Given the description of an element on the screen output the (x, y) to click on. 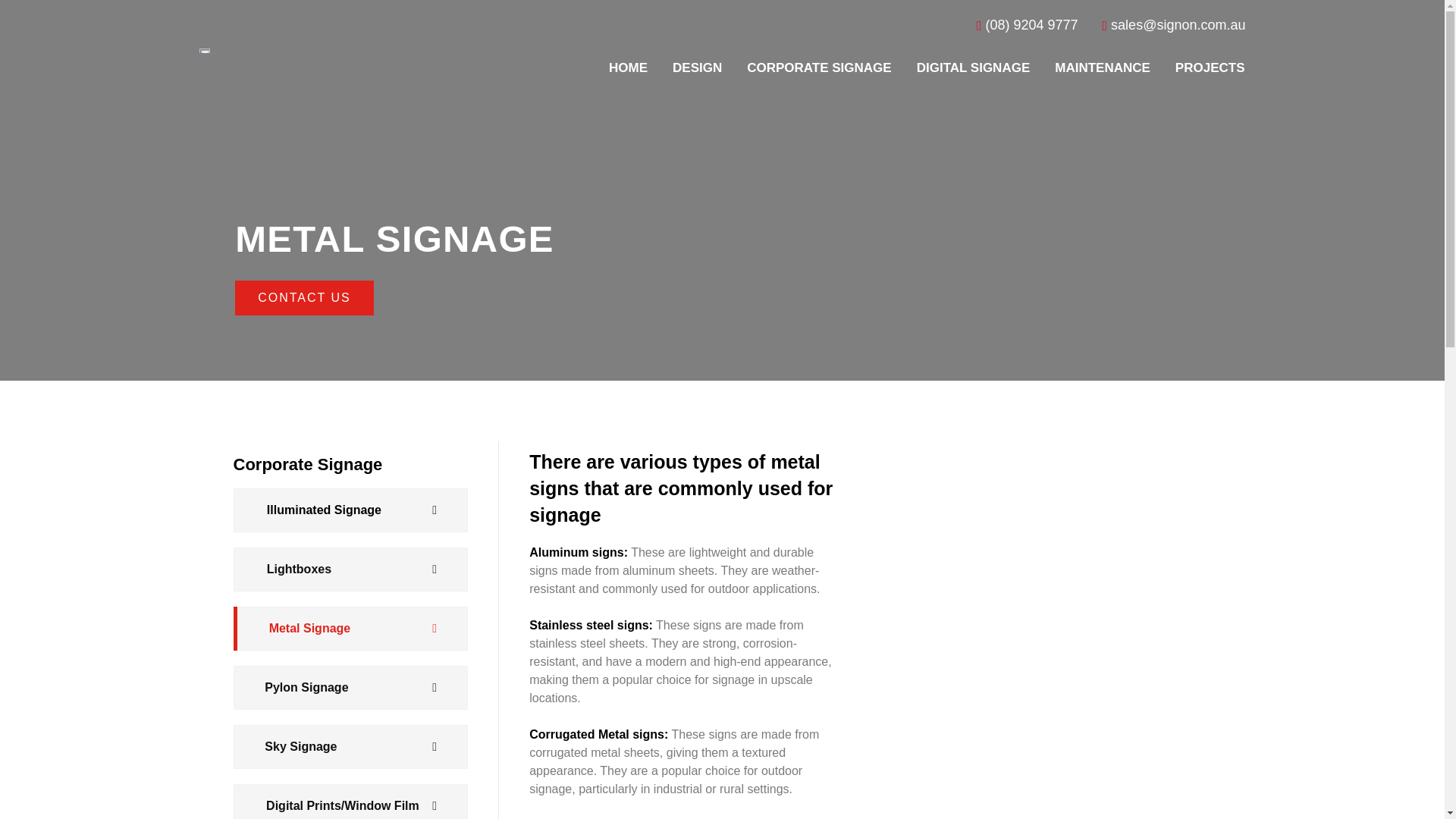
DIGITAL SIGNAGE (972, 67)
CORPORATE SIGNAGE (818, 67)
PROJECTS (1210, 67)
DESIGN (696, 67)
MAINTENANCE (1102, 67)
HOME (627, 67)
